Given the description of an element on the screen output the (x, y) to click on. 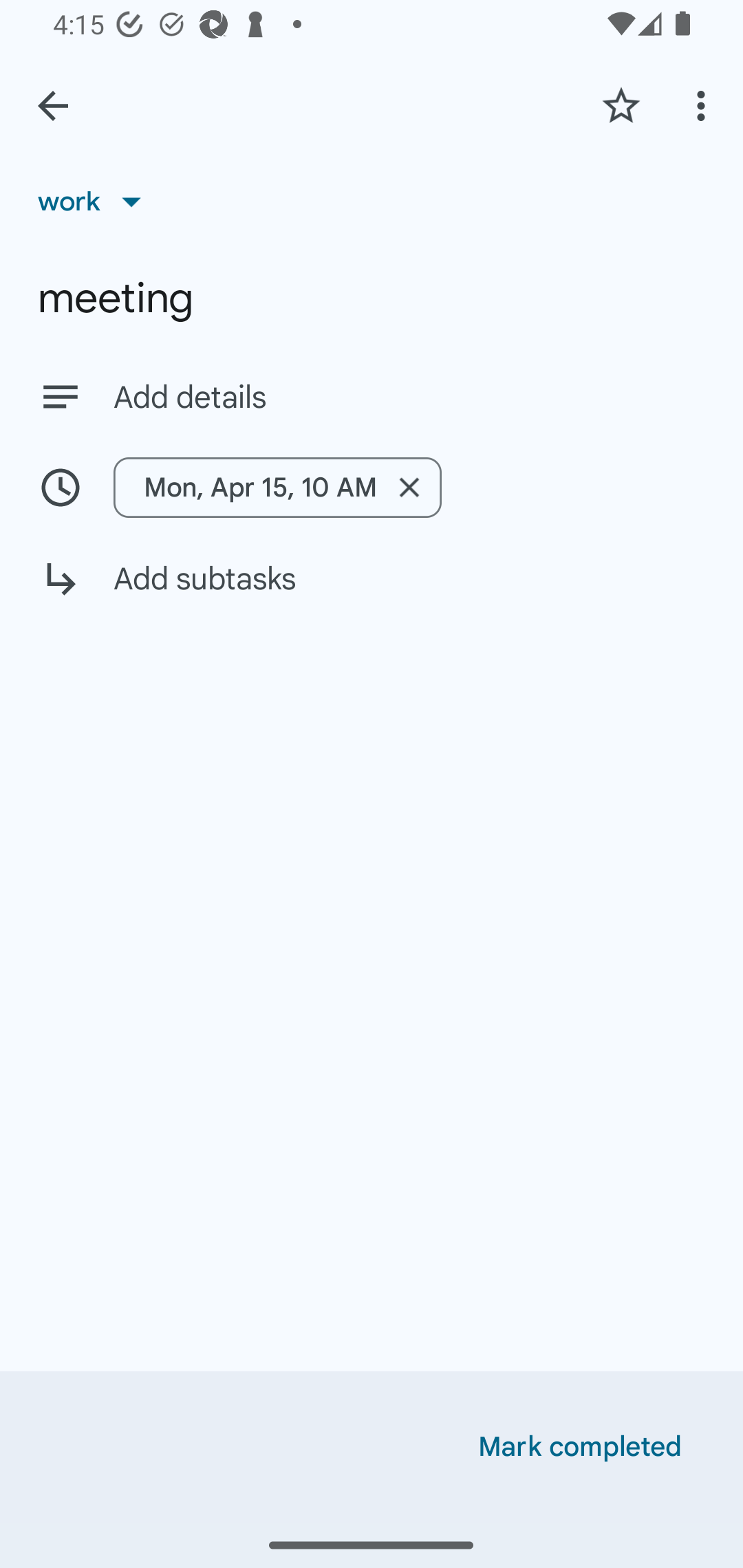
Back (53, 105)
Add star (620, 105)
More options (704, 105)
work List, work selected, 1 of 23 (95, 201)
meeting (371, 298)
Add details (371, 396)
Add details (409, 397)
Mon, Apr 15, 10 AM Remove date/time (371, 487)
Mon, Apr 15, 10 AM Remove date/time (277, 487)
Add subtasks (371, 593)
Mark completed (580, 1446)
